Given the description of an element on the screen output the (x, y) to click on. 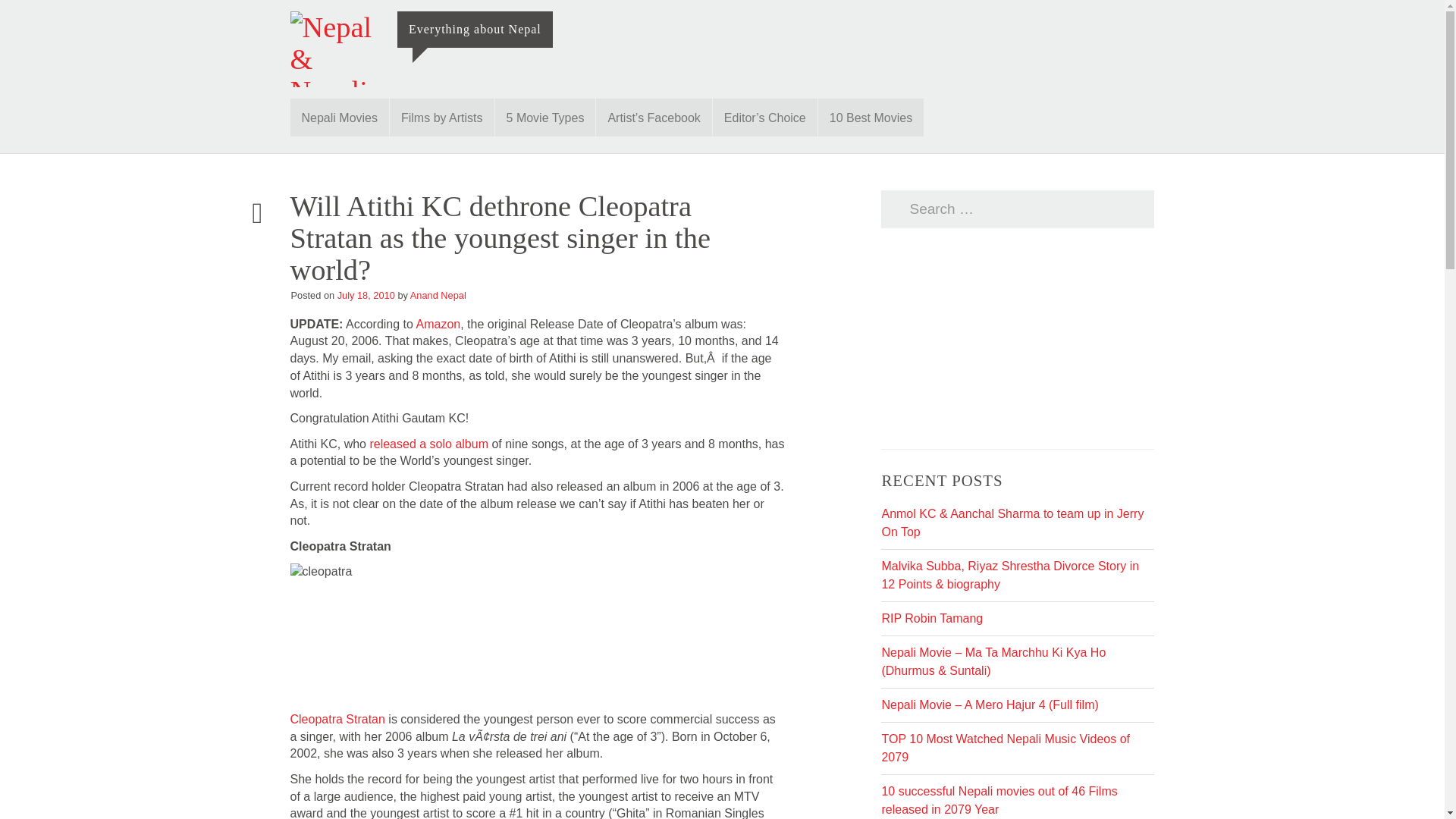
Films by Artists (442, 117)
Nepali Movies (338, 117)
5 Movie Types (545, 117)
Editor's Choice (764, 117)
Cleopatra Stratan (336, 718)
RIP Robin Tamang (931, 617)
Amazon (437, 323)
5 Movie Types (545, 117)
cleopatra (381, 632)
Anand Nepal (437, 295)
10 Best Movies (870, 117)
Artist's Facebook (653, 117)
released a solo album (428, 443)
Films by Artists (442, 117)
Nepali Movies (338, 117)
